Given the description of an element on the screen output the (x, y) to click on. 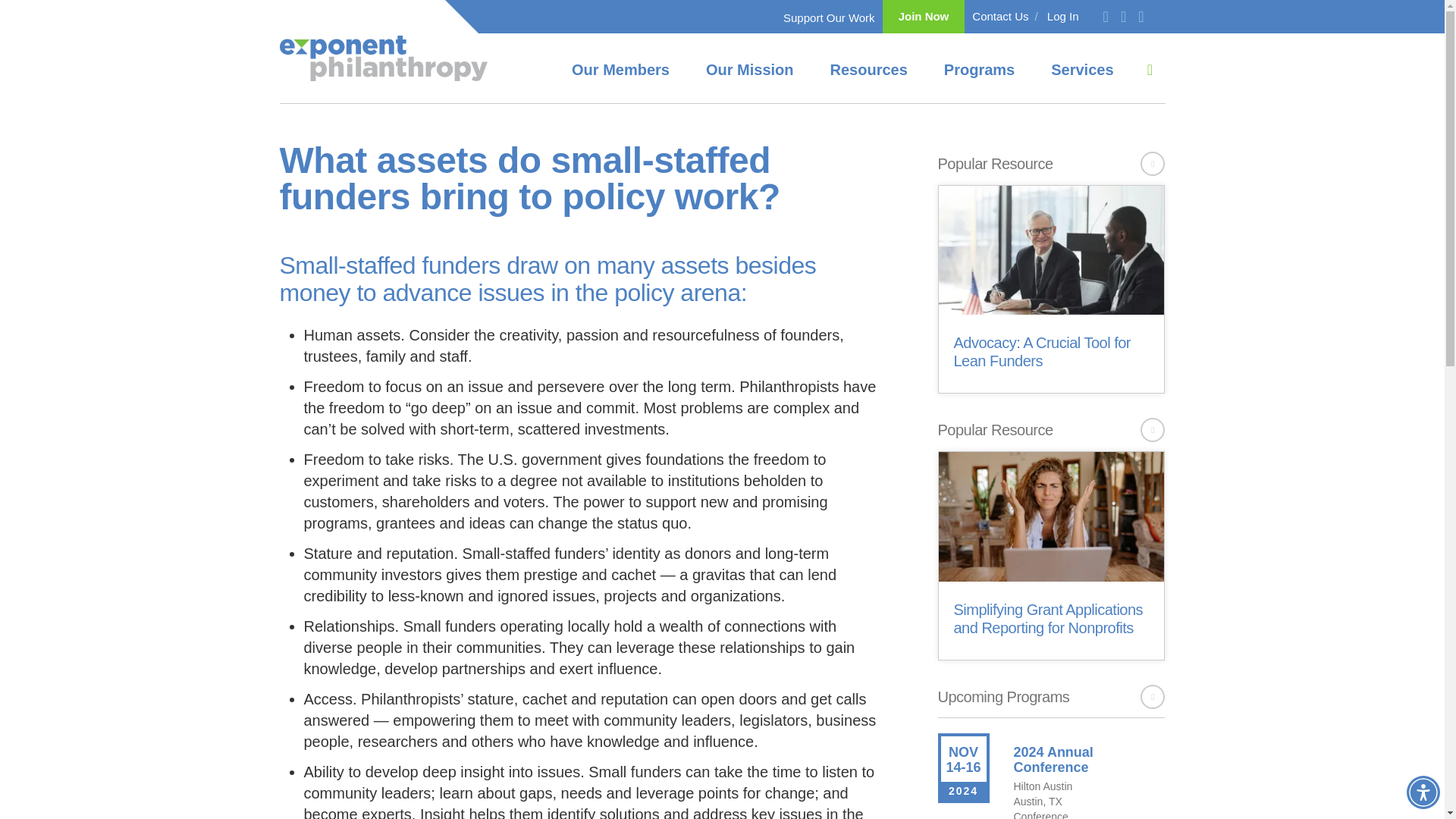
Permalink to Entry (1053, 759)
Our Mission (749, 68)
Programs (979, 68)
Support Our Work (829, 18)
Accessibility Menu (1422, 792)
View more popular resources (1152, 163)
View more upcoming events (1152, 696)
Simplifying Grant Applications and Reporting for Nonprofits (1051, 525)
Advocacy: A Crucial Tool for Lean Funders (1051, 258)
View more popular resources (1152, 429)
